Given the description of an element on the screen output the (x, y) to click on. 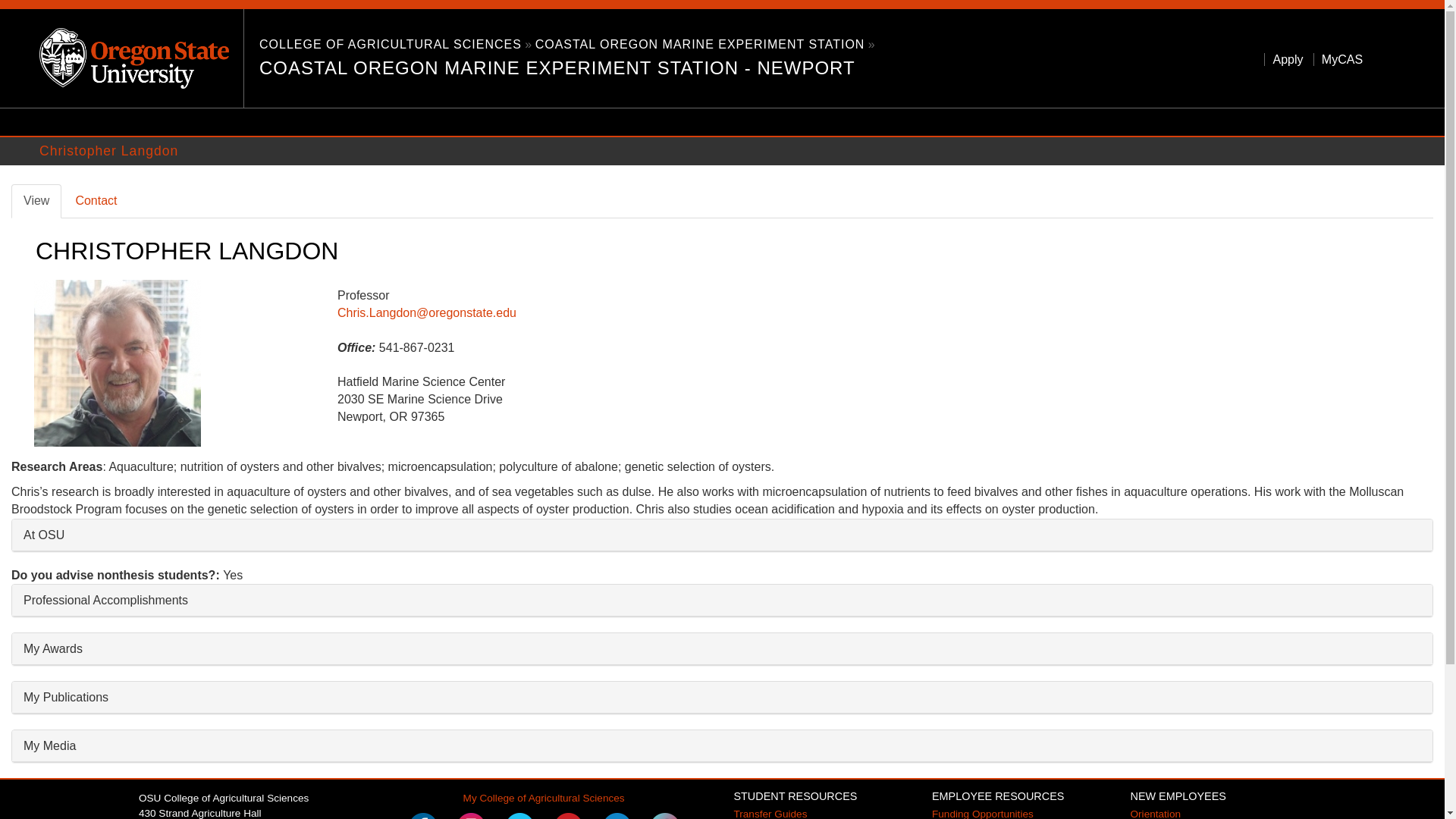
University Home (139, 56)
COASTAL OREGON MARINE EXPERIMENT STATION - NEWPORT (567, 68)
COLLEGE OF AGRICULTURAL SCIENCES (390, 43)
COASTAL OREGON MARINE EXPERIMENT STATION (721, 745)
MyCAS (721, 696)
My College of Agricultural Sciences (699, 43)
